Given the description of an element on the screen output the (x, y) to click on. 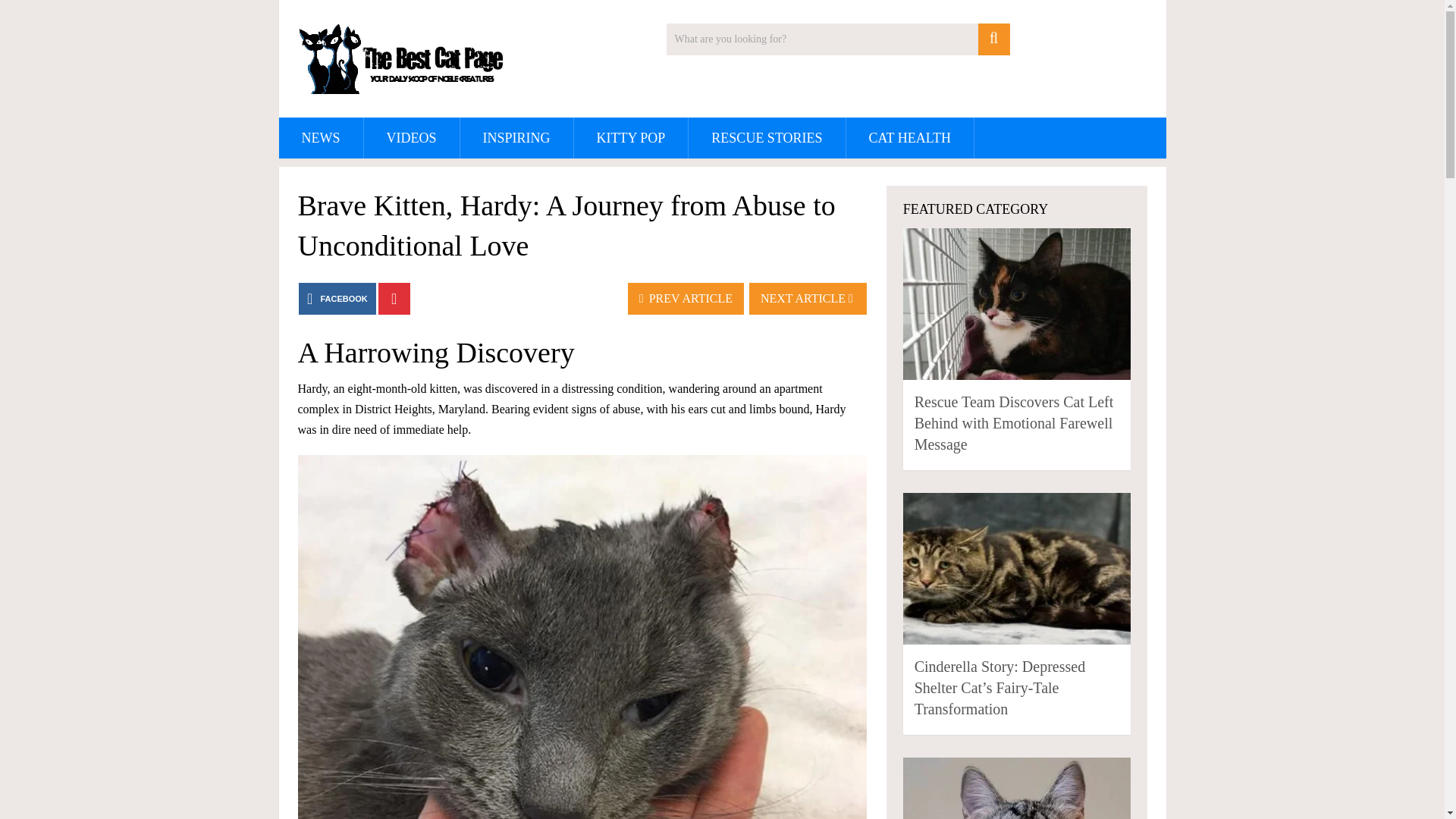
KITTY POP (630, 137)
VIDEOS (412, 137)
PREV ARTICLE (685, 298)
CAT HEALTH (909, 137)
NEWS (320, 137)
RESCUE STORIES (766, 137)
INSPIRING (516, 137)
NEXT ARTICLE (807, 298)
FACEBOOK (336, 298)
